Given the description of an element on the screen output the (x, y) to click on. 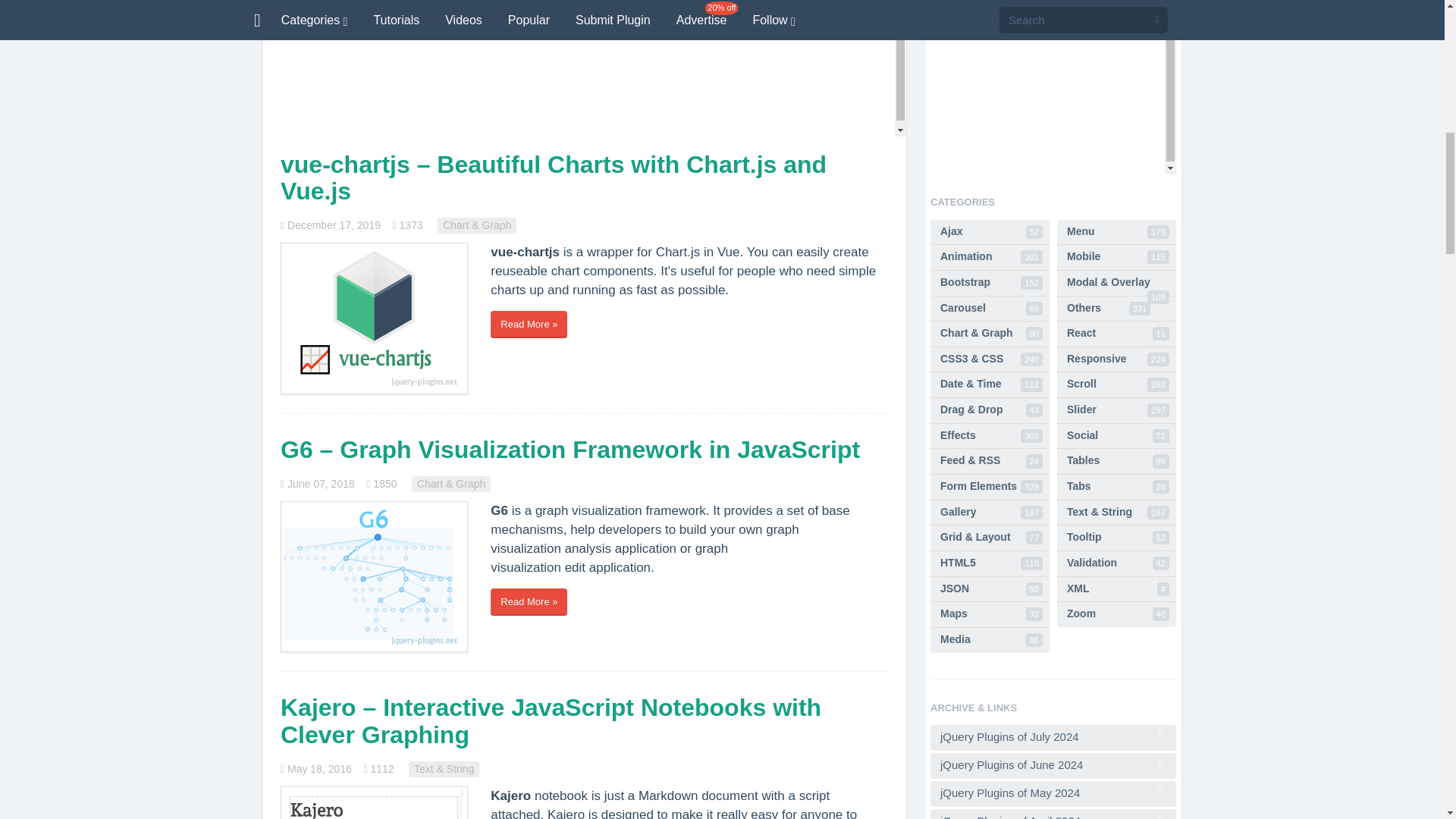
Advertisement (584, 68)
